Given the description of an element on the screen output the (x, y) to click on. 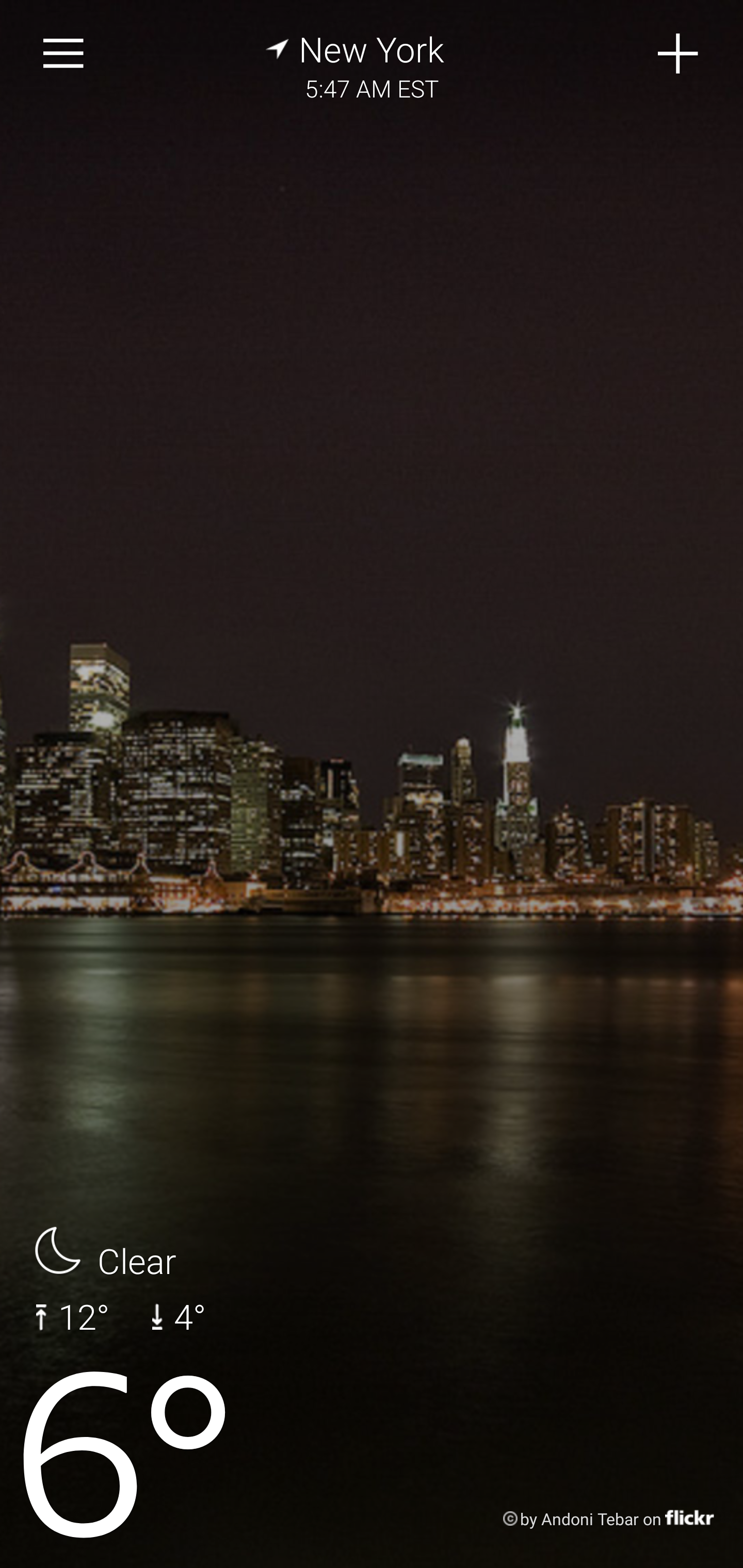
Sidebar (64, 54)
Add City (678, 53)
